Given the description of an element on the screen output the (x, y) to click on. 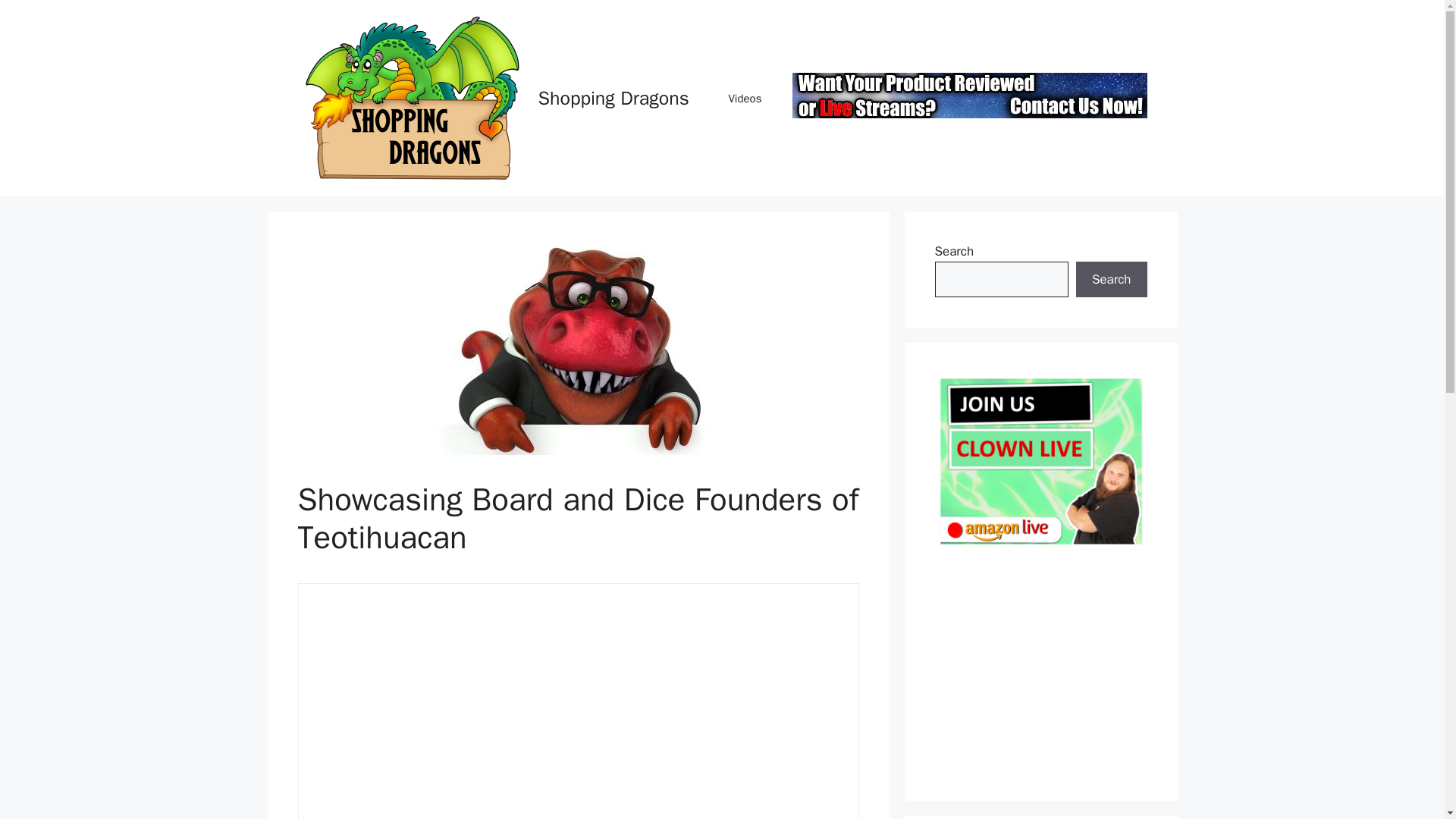
Videos (744, 98)
Shopping Dragons (613, 97)
Search (1111, 279)
